Given the description of an element on the screen output the (x, y) to click on. 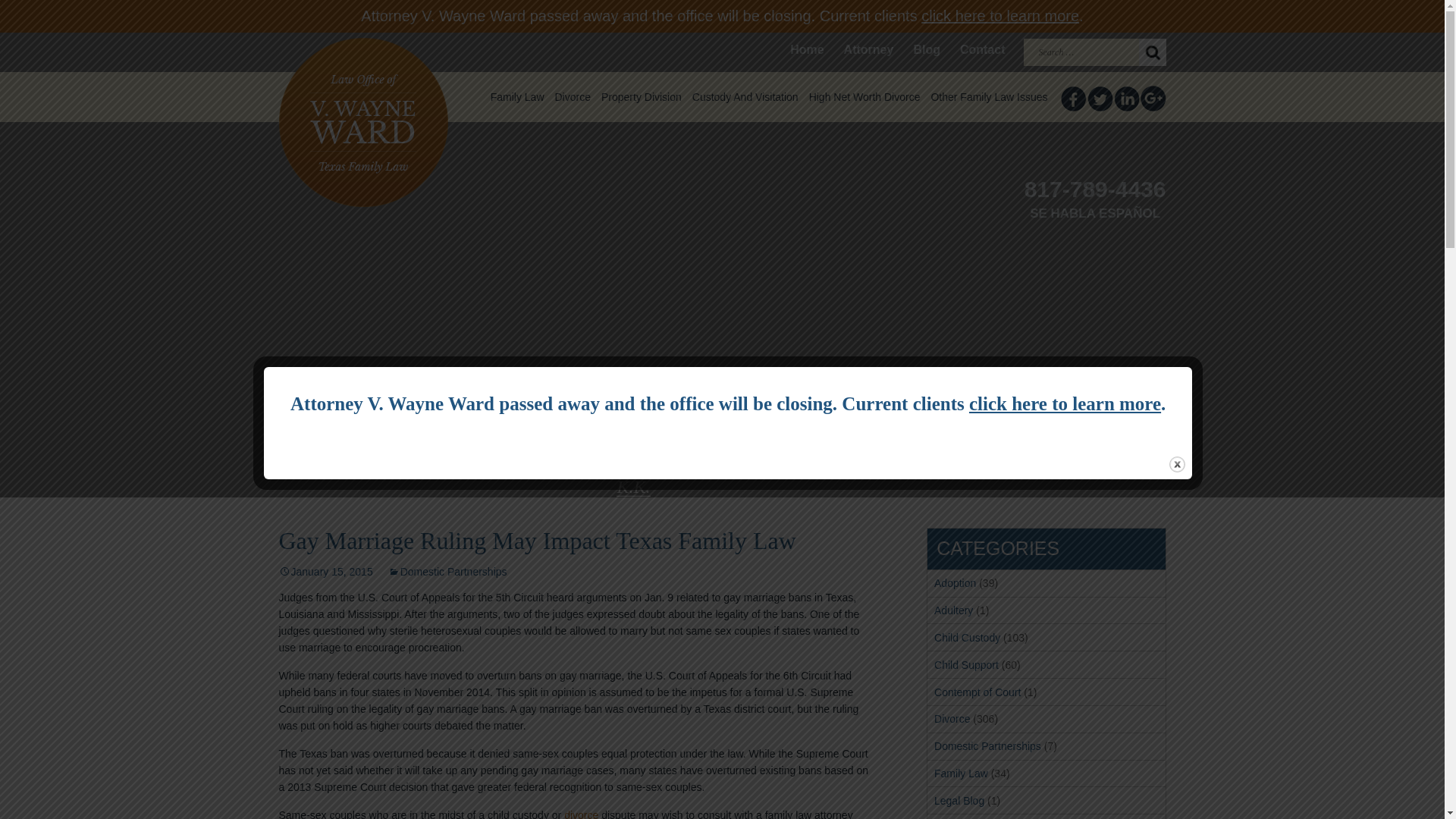
Family Law (517, 97)
Home (806, 49)
Divorce (571, 97)
Search (1152, 52)
Search (1152, 52)
January 15, 2015 (325, 571)
817-789-4436 (1095, 191)
click here to learn more (999, 15)
Contact (982, 49)
Domestic Partnerships (447, 571)
Adoption (954, 582)
Permalink to Gay marriage ruling may impact Texas family law (325, 571)
Custody And Visitation (745, 97)
Other Family Law Issues (988, 97)
Search (1152, 52)
